Given the description of an element on the screen output the (x, y) to click on. 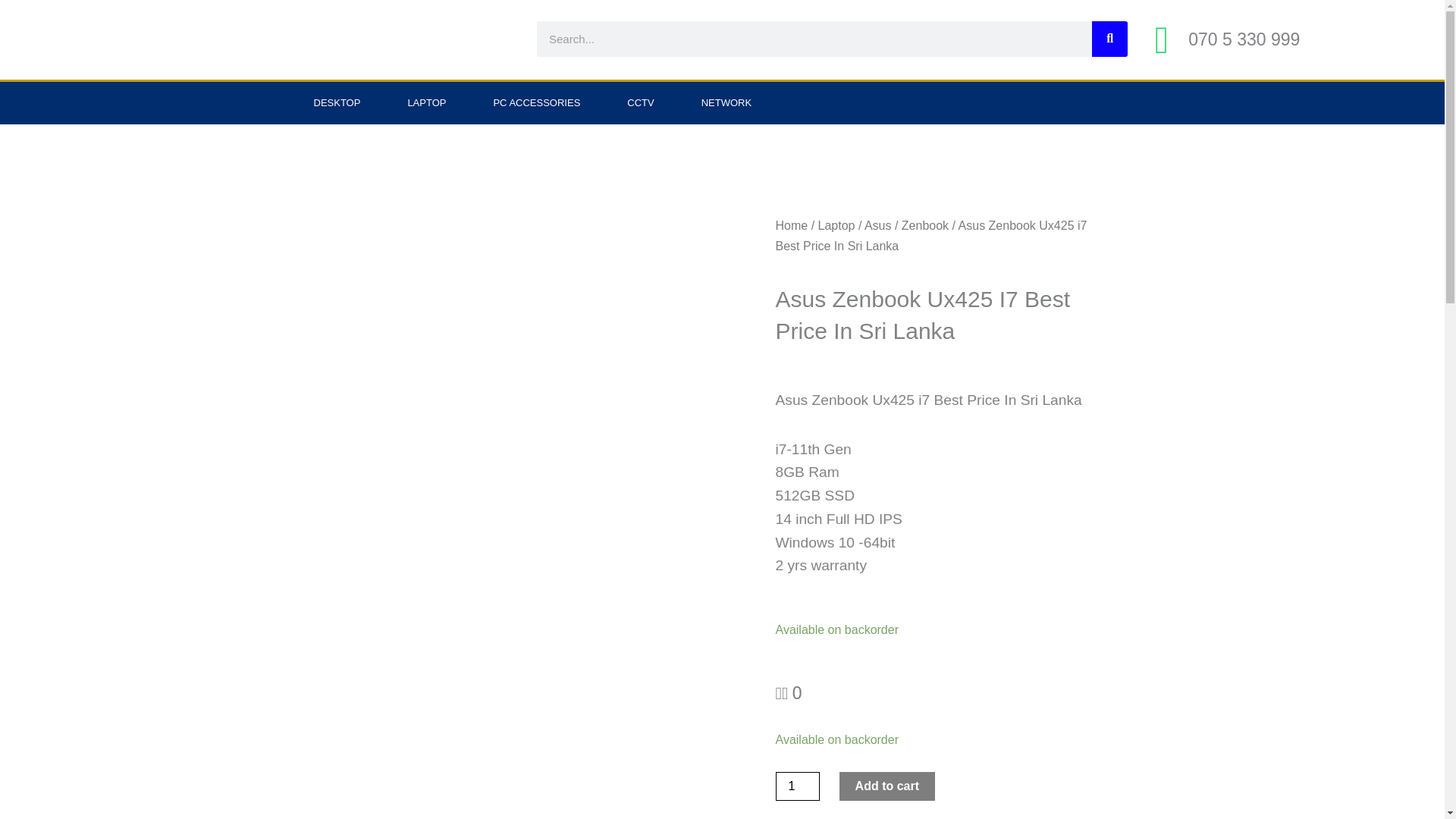
LAPTOP (426, 102)
Home (791, 225)
Asus (877, 225)
CCTV (640, 102)
1 (796, 786)
DESKTOP (336, 102)
NETWORK (726, 102)
Search (1109, 38)
Zenbook (925, 225)
Add to cart (887, 786)
